Given the description of an element on the screen output the (x, y) to click on. 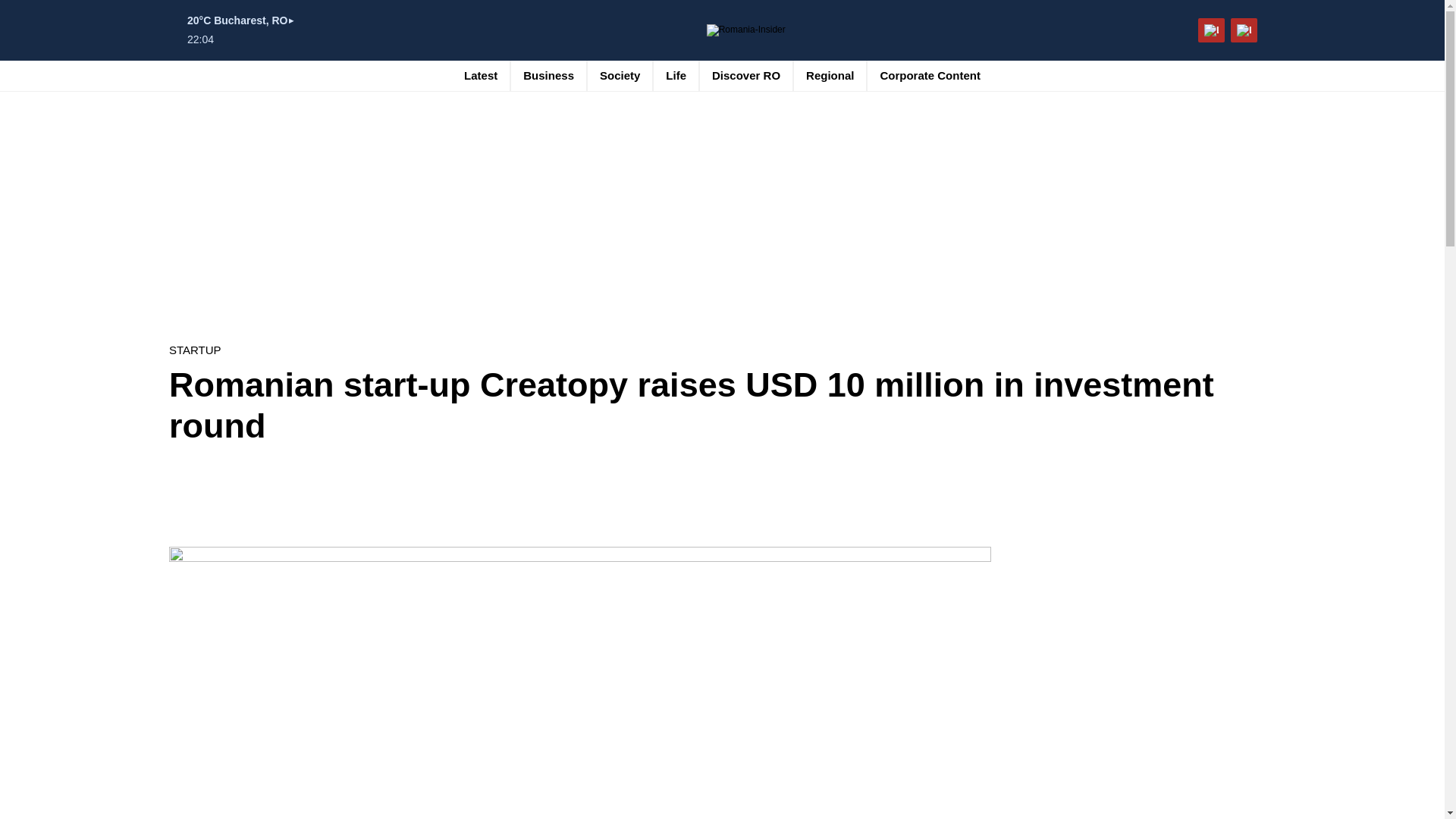
Society (619, 74)
Latest (480, 74)
Business (547, 74)
